Given the description of an element on the screen output the (x, y) to click on. 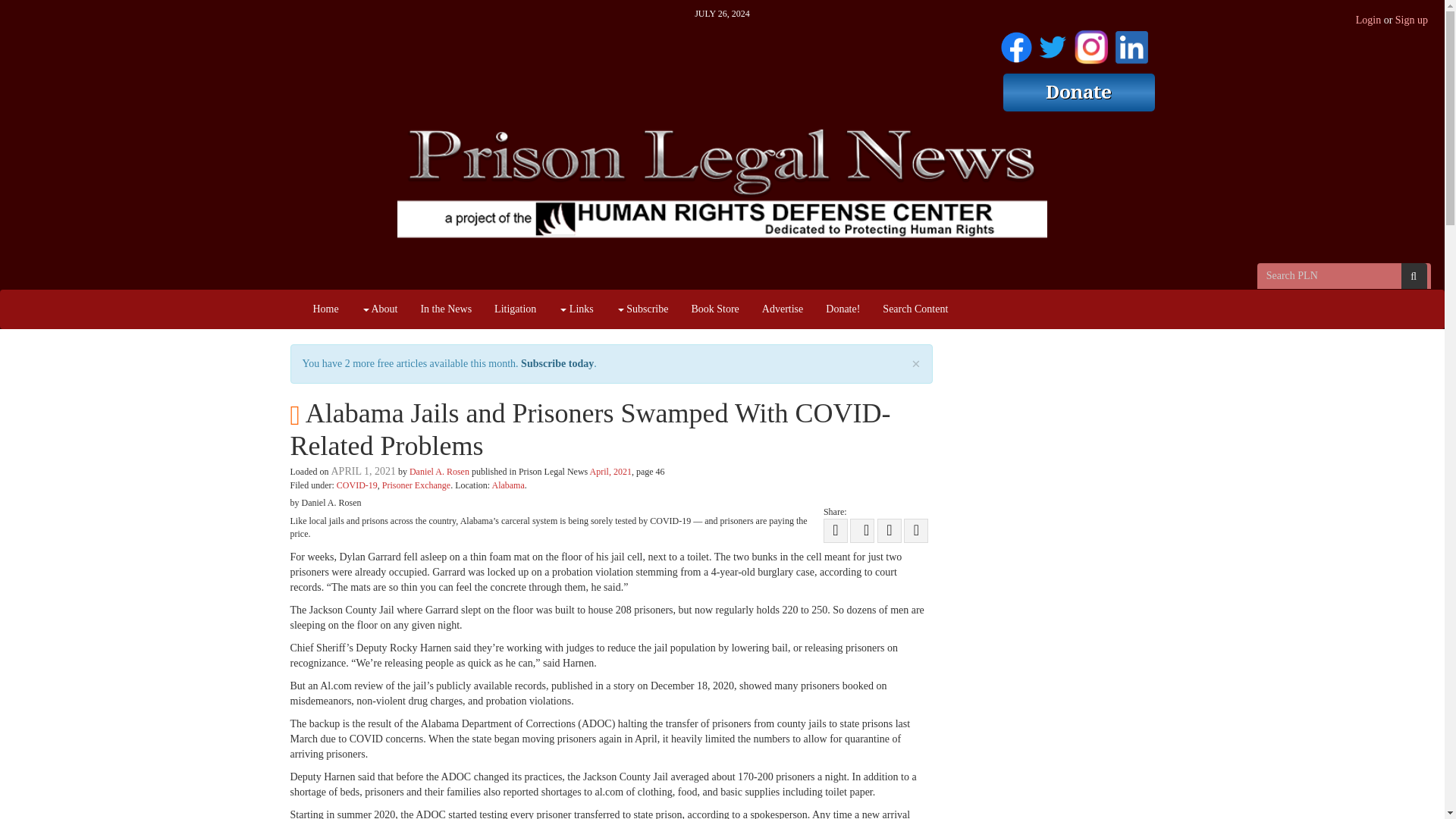
Sign up (1411, 19)
Links (575, 309)
Subscribe today (557, 363)
Home (325, 309)
Litigation (515, 309)
Subscribe (642, 309)
HRDC Instagram Page (1091, 44)
Daniel A. Rosen (438, 471)
Book Store (714, 309)
Prison Legal News FaceBook Page (1016, 44)
In the News (446, 309)
Advertise (782, 309)
April, 2021 (610, 471)
Paul Wright's LinkedIn Page (1131, 44)
About (379, 309)
